Given the description of an element on the screen output the (x, y) to click on. 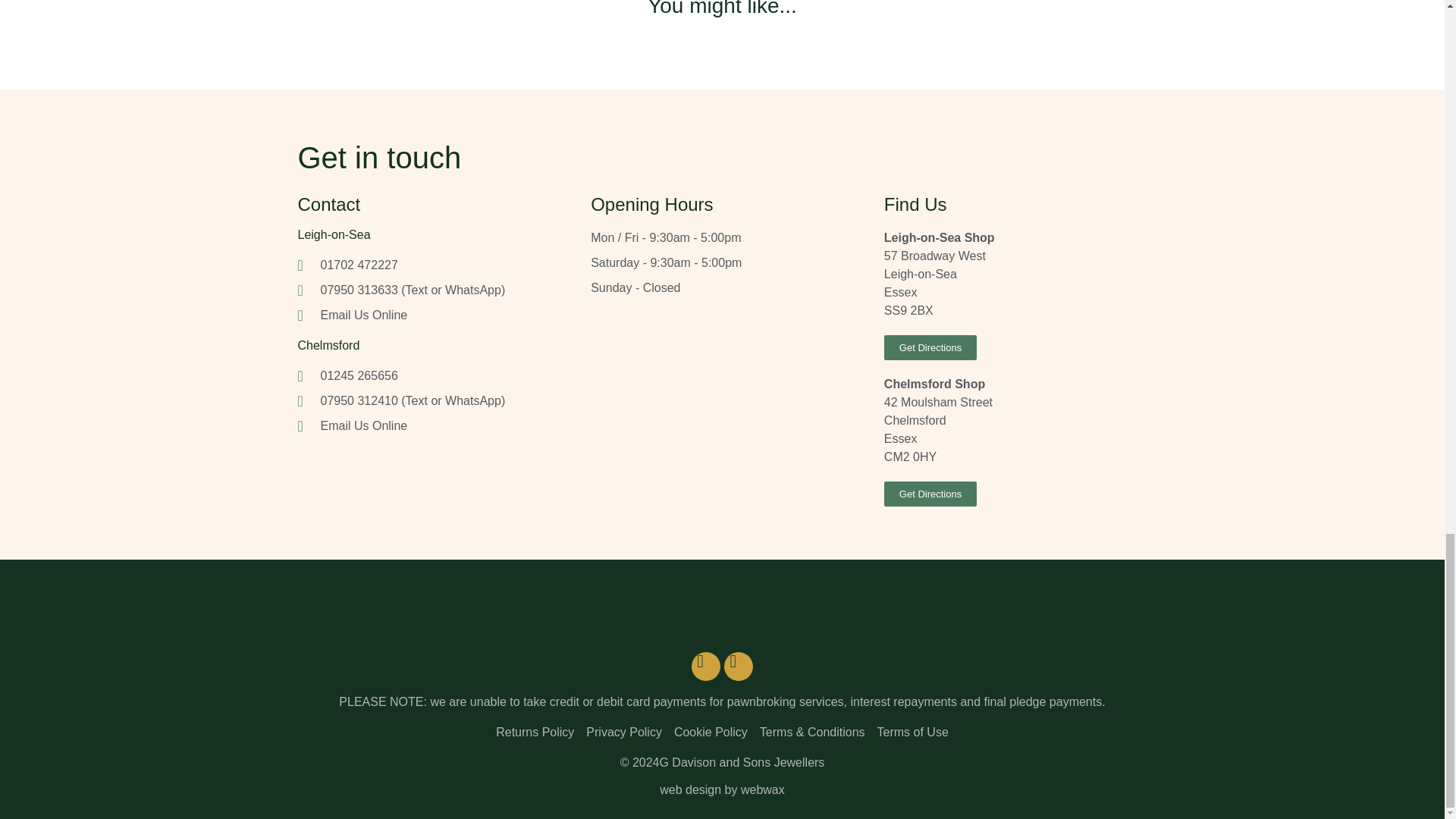
Sunday - Closed (722, 288)
Saturday - 9:30am - 5:00pm (722, 262)
01702 472227 (428, 265)
web design (689, 789)
01245 265656 (428, 375)
Email Us Online (428, 315)
Email Us Online (428, 425)
